Given the description of an element on the screen output the (x, y) to click on. 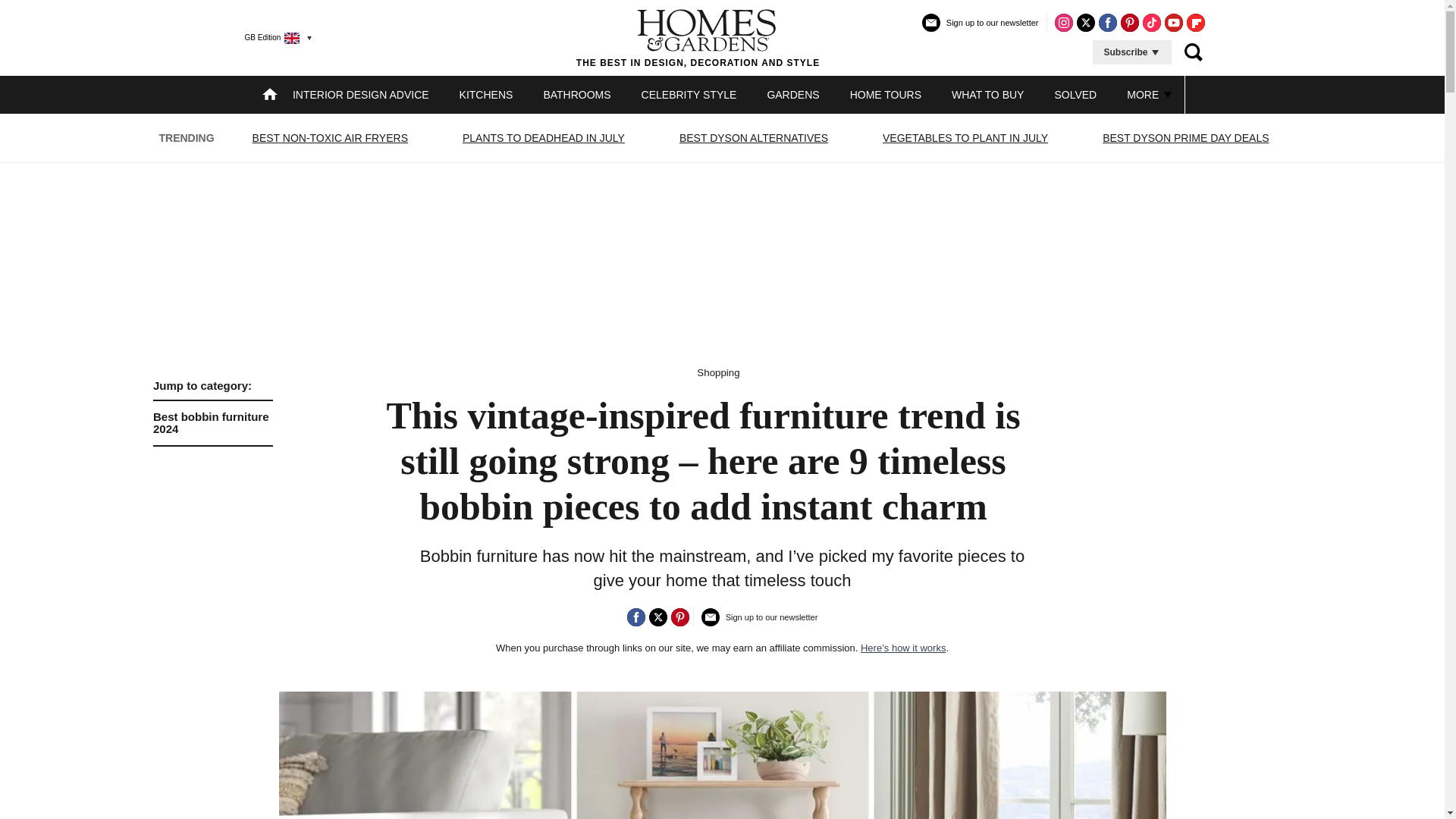
CELEBRITY STYLE (689, 94)
INTERIOR DESIGN ADVICE (360, 94)
KITCHENS (486, 94)
BEST NON-TOXIC AIR FRYERS (330, 137)
BEST DYSON PRIME DAY DEALS (1185, 137)
SOLVED (1075, 94)
Sign up to our newsletter (980, 28)
GARDENS (792, 94)
BEST DYSON ALTERNATIVES (753, 137)
HOME TOURS (885, 94)
THE BEST IN DESIGN, DECORATION AND STYLE (212, 409)
PLANTS TO DEADHEAD IN JULY (697, 37)
Jump to category: (543, 137)
GB Edition (212, 385)
